Given the description of an element on the screen output the (x, y) to click on. 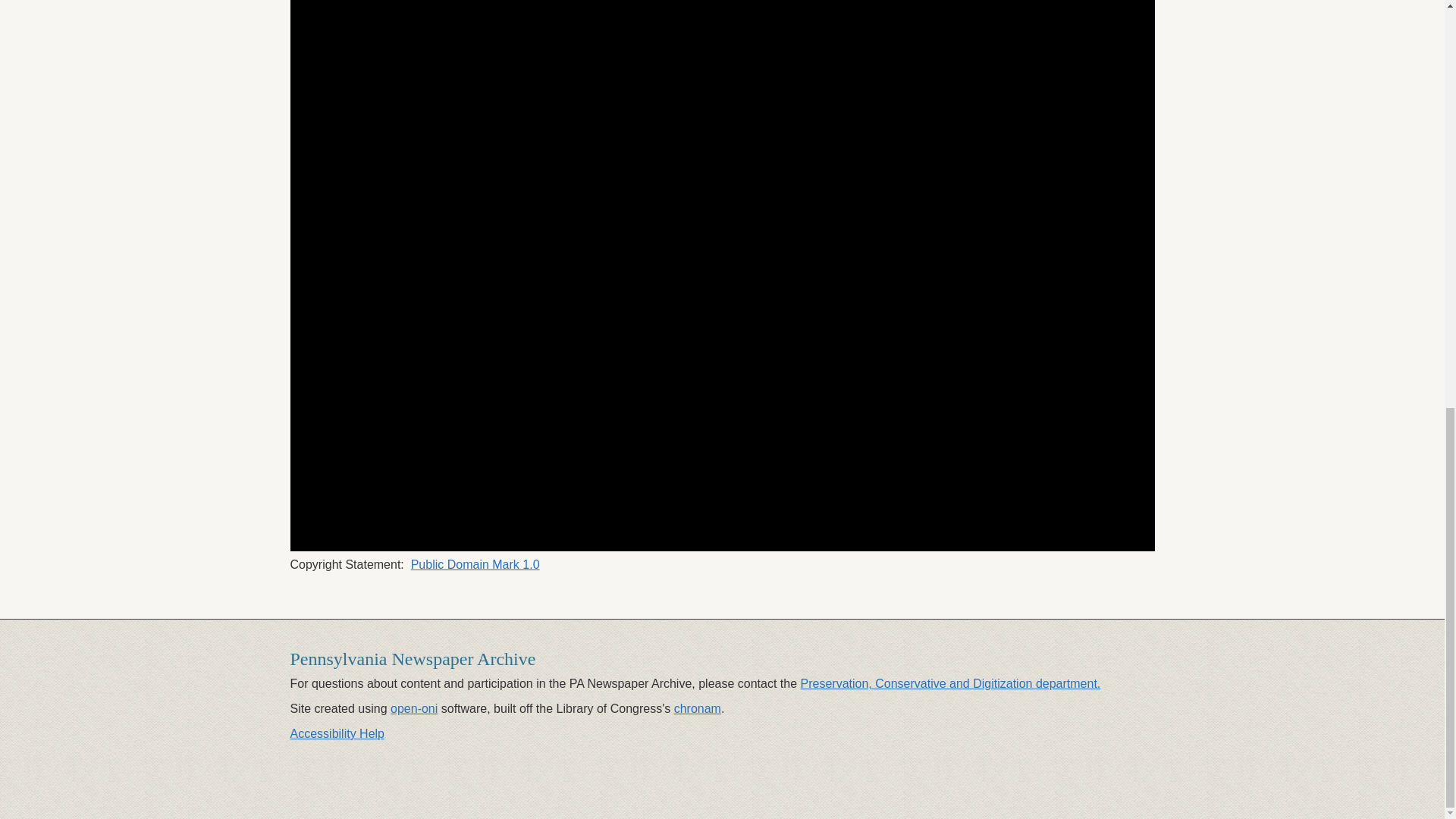
Preservation, Conservative and Digitization department. (950, 683)
Public Domain Mark 1.0 (475, 563)
Accessibility Help (336, 733)
chronam (697, 707)
open-oni (414, 707)
